Given the description of an element on the screen output the (x, y) to click on. 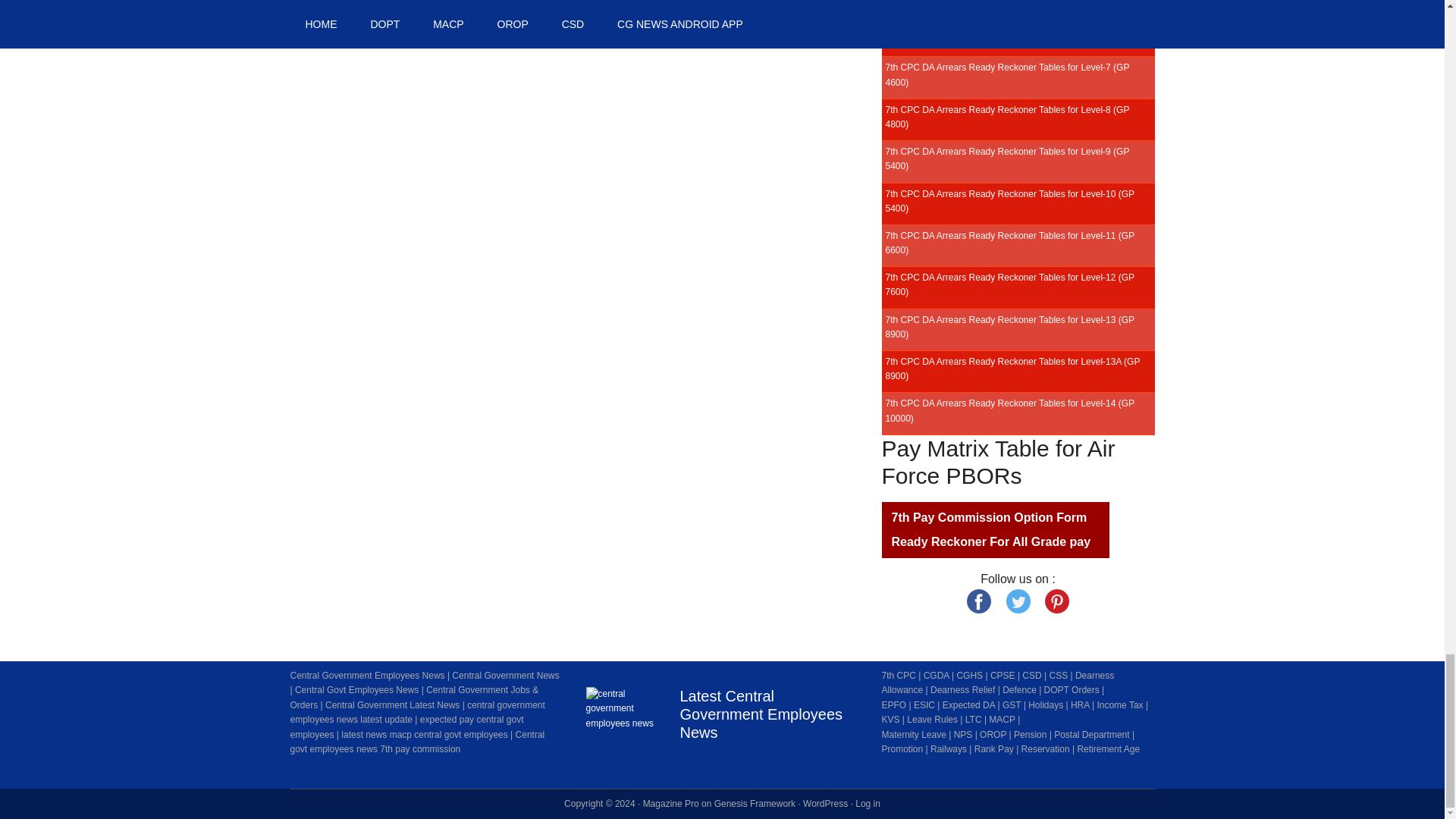
Central Government Employees News Android App (623, 724)
